Given the description of an element on the screen output the (x, y) to click on. 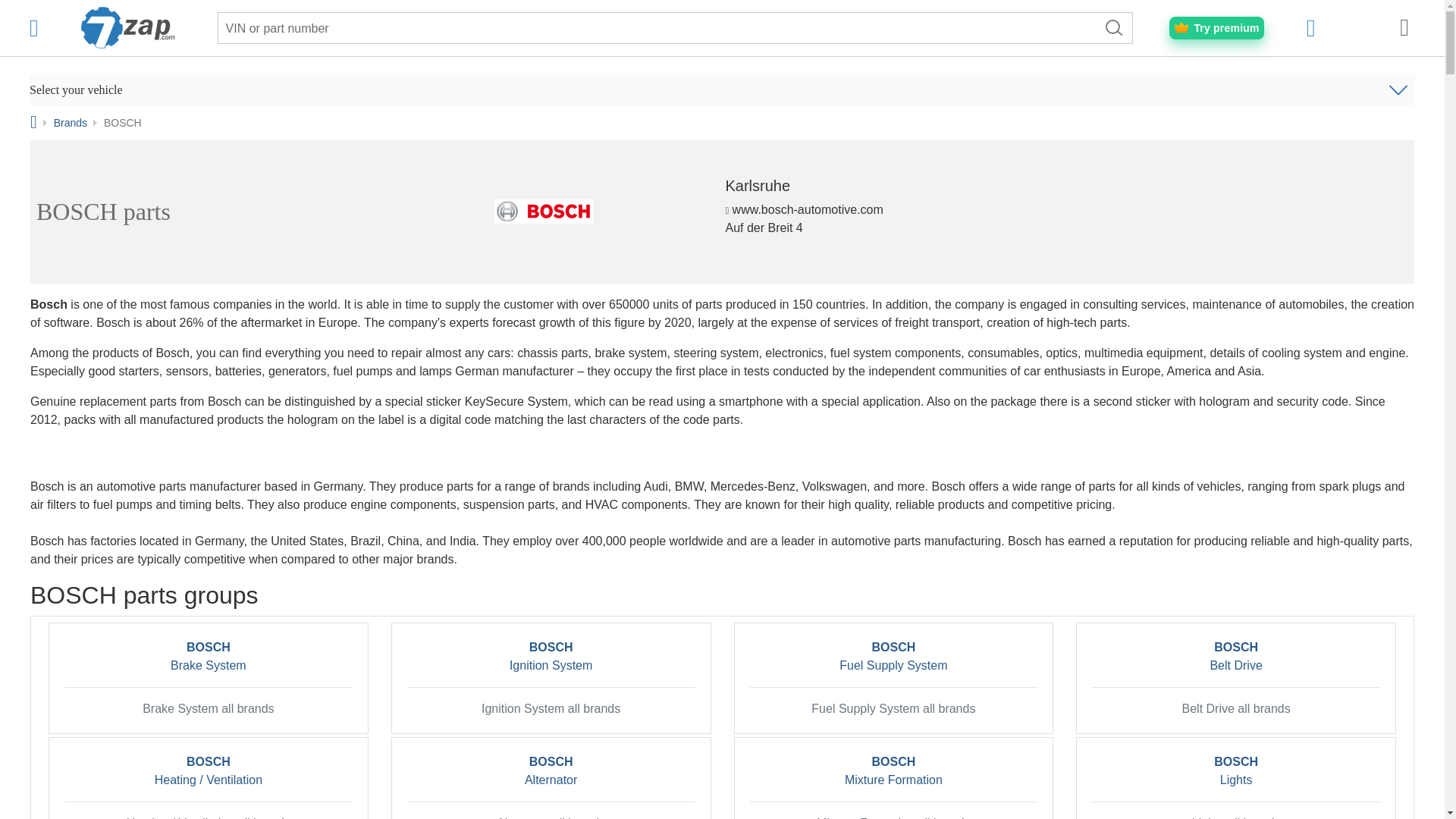
BOSCH (543, 211)
